Given the description of an element on the screen output the (x, y) to click on. 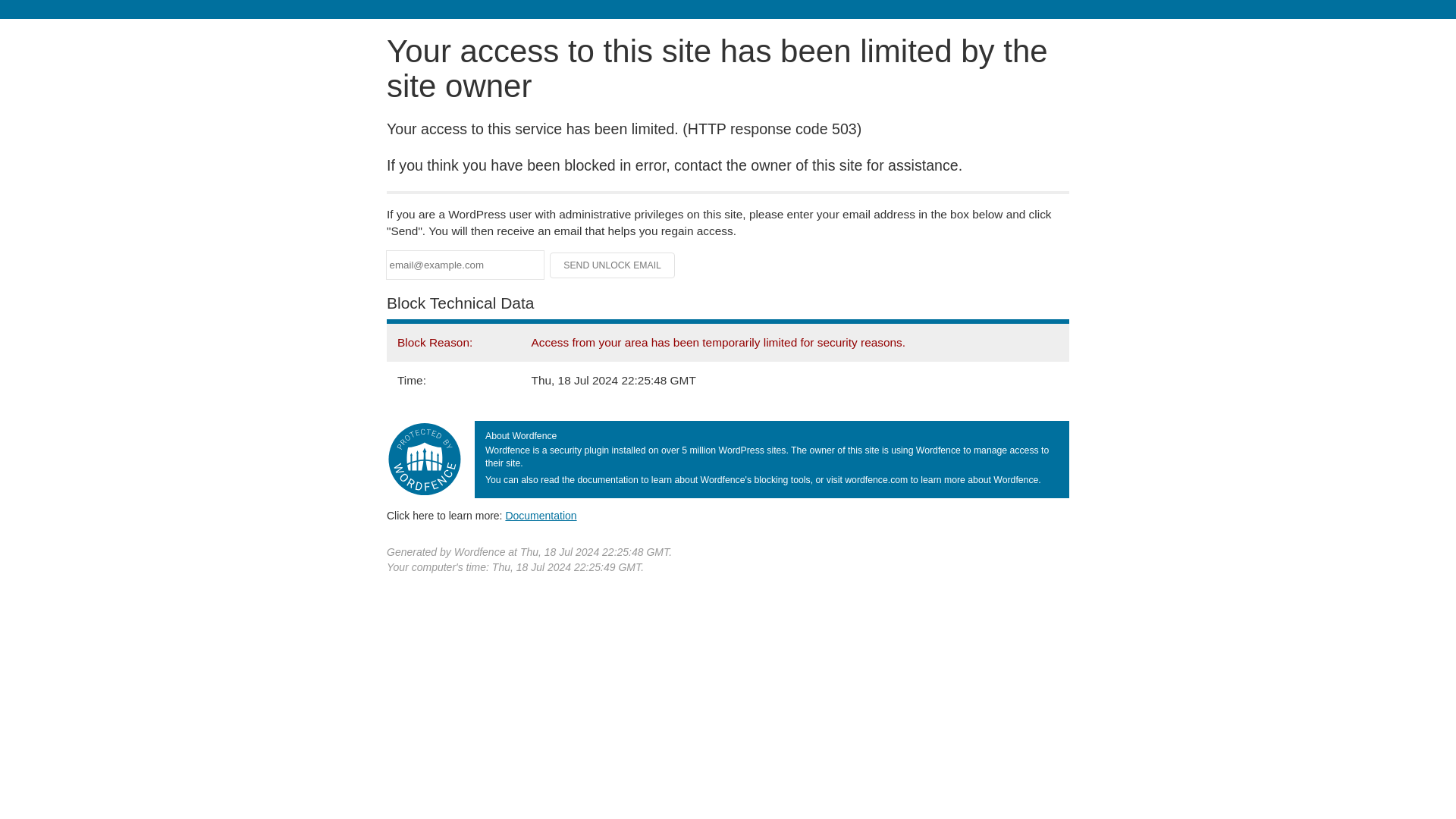
Documentation (540, 515)
Send Unlock Email (612, 265)
Send Unlock Email (612, 265)
